Given the description of an element on the screen output the (x, y) to click on. 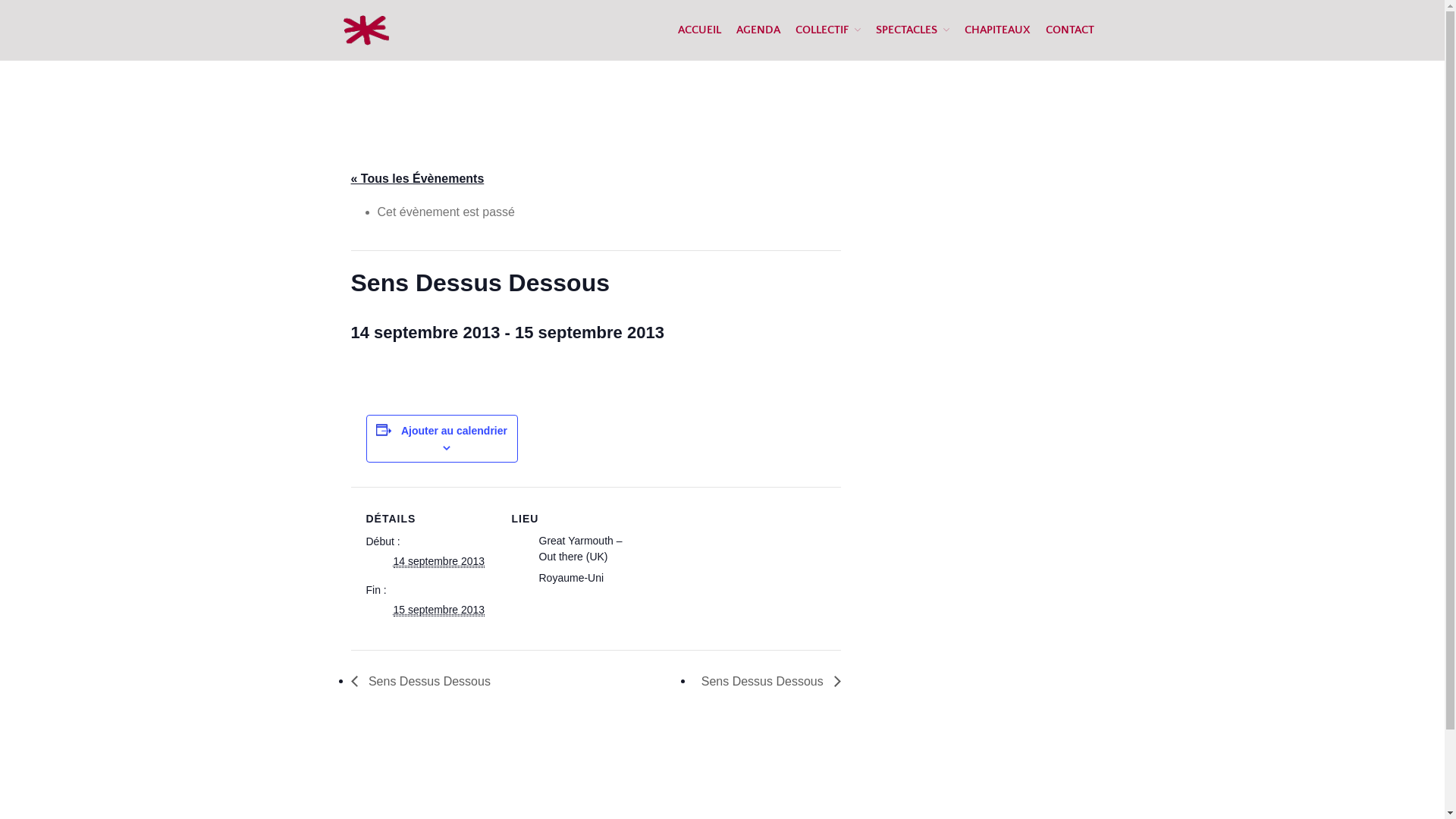
AGENDA Element type: text (757, 29)
ACCUEIL Element type: text (699, 29)
Sens Dessus Dessous Element type: text (424, 680)
Sens Dessus Dessous Element type: text (766, 680)
Rechercher Element type: text (1357, 385)
CHAPITEAUX Element type: text (997, 29)
CONTACT Element type: text (1069, 29)
COLLECTIF Element type: text (827, 30)
Ajouter au calendrier Element type: text (454, 430)
SPECTACLES Element type: text (911, 30)
